Given the description of an element on the screen output the (x, y) to click on. 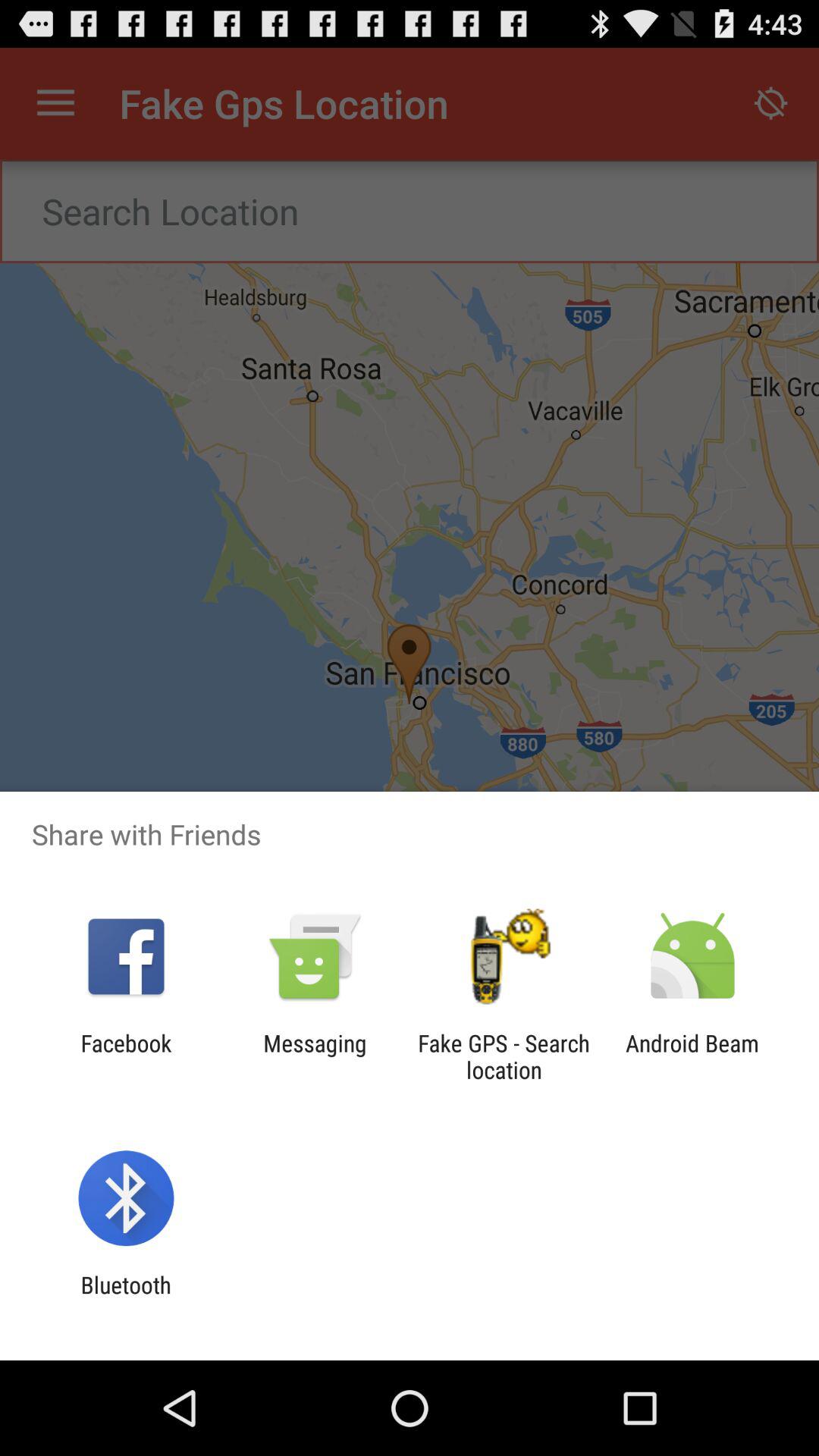
open the icon next to messaging item (125, 1056)
